Given the description of an element on the screen output the (x, y) to click on. 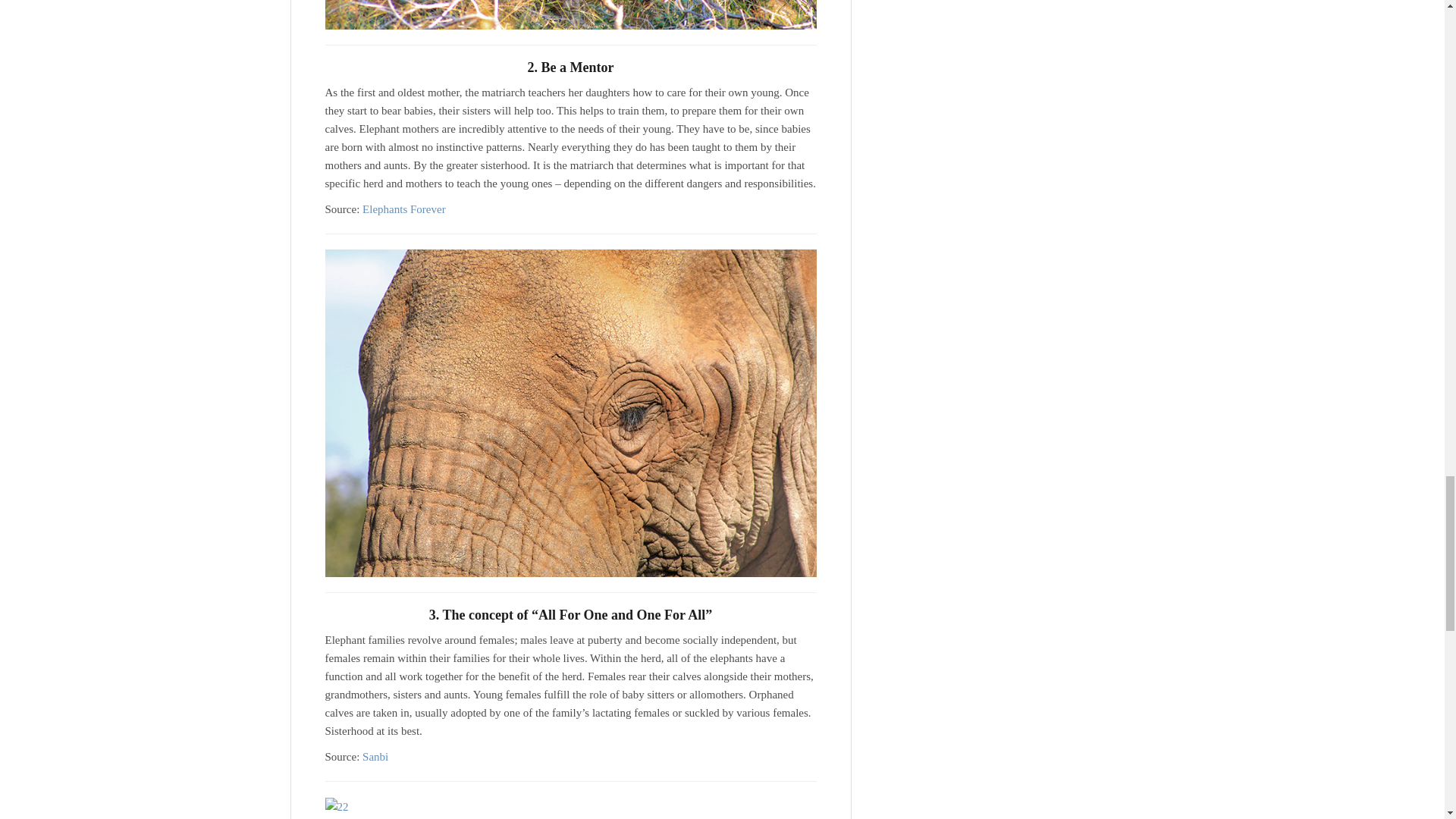
Elephants Forever (403, 209)
Sanbi (375, 756)
